Given the description of an element on the screen output the (x, y) to click on. 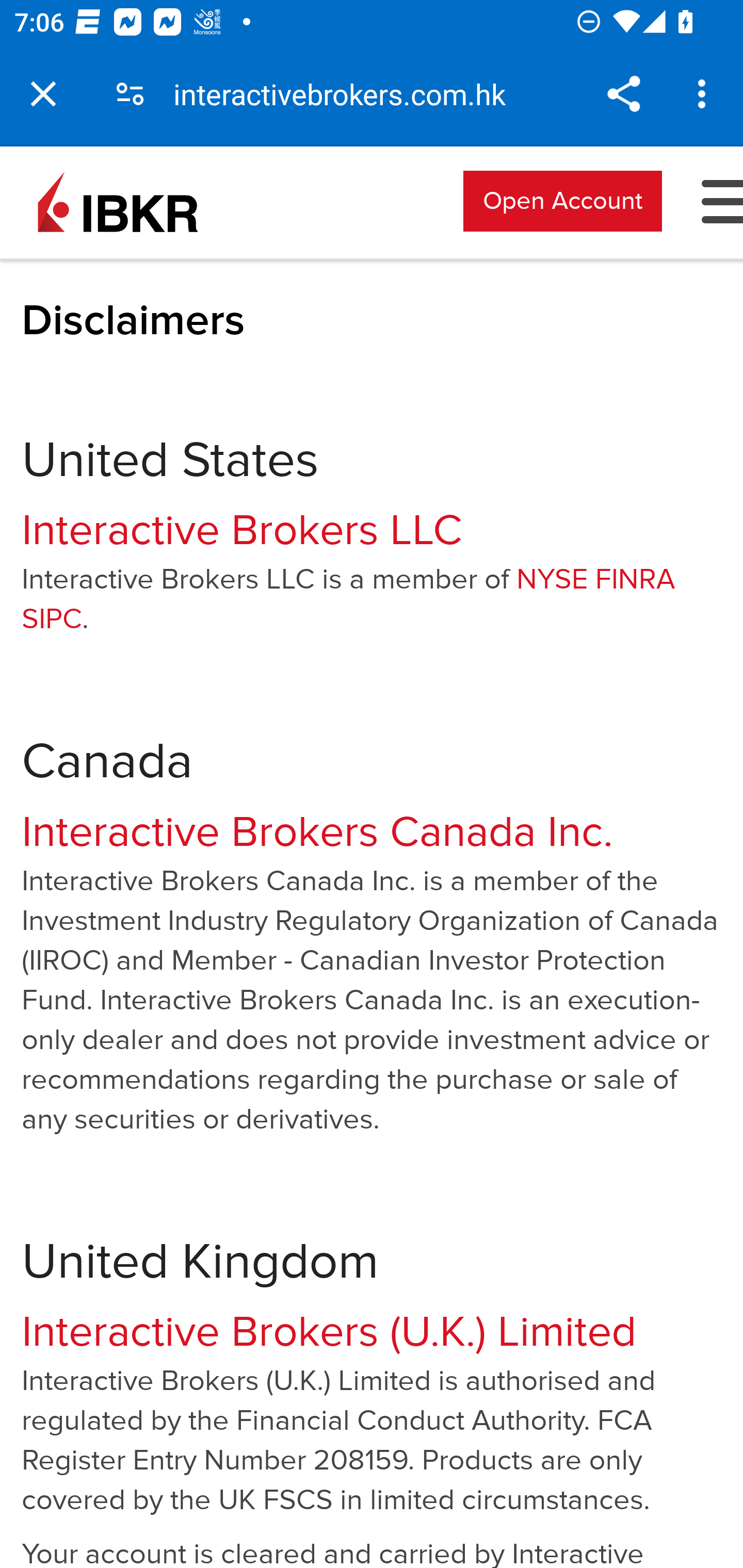
Close tab (43, 93)
Share (623, 93)
Customize and control Google Chrome (705, 93)
Connection is secure (129, 93)
interactivebrokers.com.hk (346, 93)
Interactive Brokers Home (117, 200)
Open Account (562, 200)
Toggle Navigation (712, 200)
Interactive Brokers LLC (241, 530)
NYSE (551, 579)
FINRA (634, 579)
SIPC (52, 618)
Interactive Brokers Canada Inc. (317, 831)
Interactive Brokers (U.K.) Limited (329, 1331)
